Given the description of an element on the screen output the (x, y) to click on. 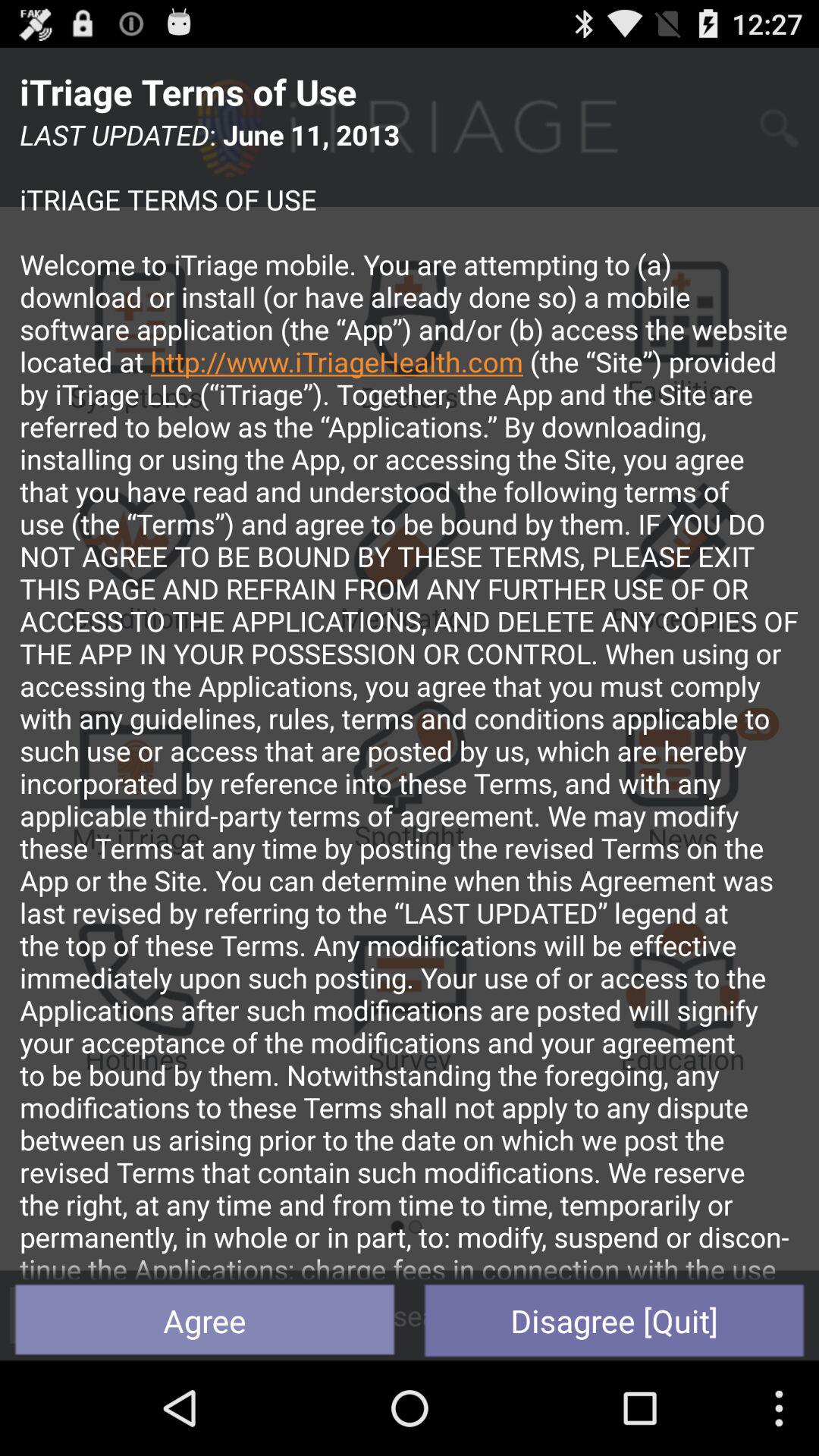
open the item below the last updated june icon (204, 1320)
